Given the description of an element on the screen output the (x, y) to click on. 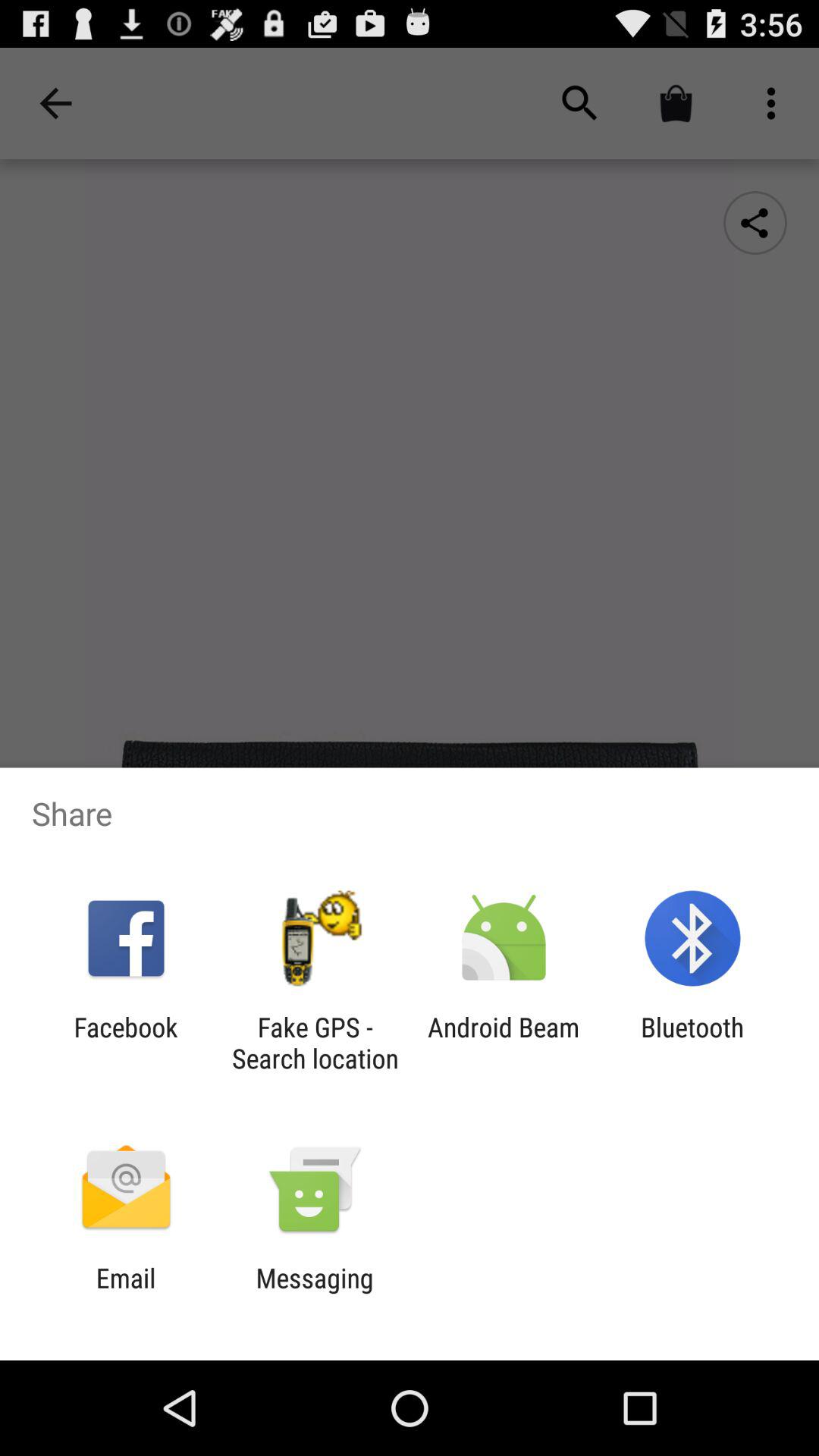
jump to bluetooth app (691, 1042)
